Given the description of an element on the screen output the (x, y) to click on. 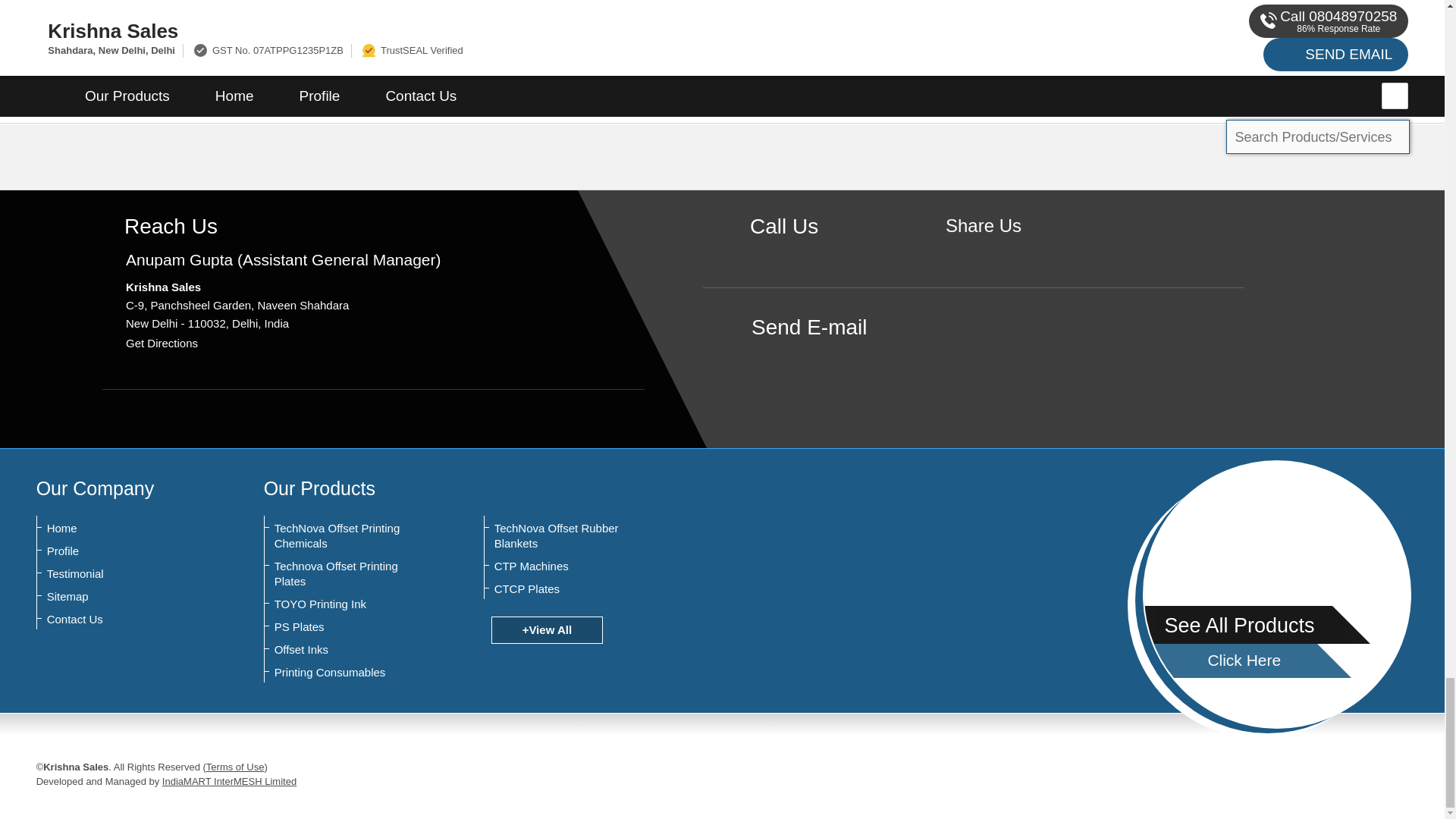
Get Directions (161, 342)
Our Products (319, 487)
Profile (121, 550)
Testimonial (121, 573)
Facebook (983, 251)
Twitter (1006, 251)
Contact Us (121, 619)
Home (121, 528)
LinkedIn (1029, 251)
Sitemap (121, 596)
